Given the description of an element on the screen output the (x, y) to click on. 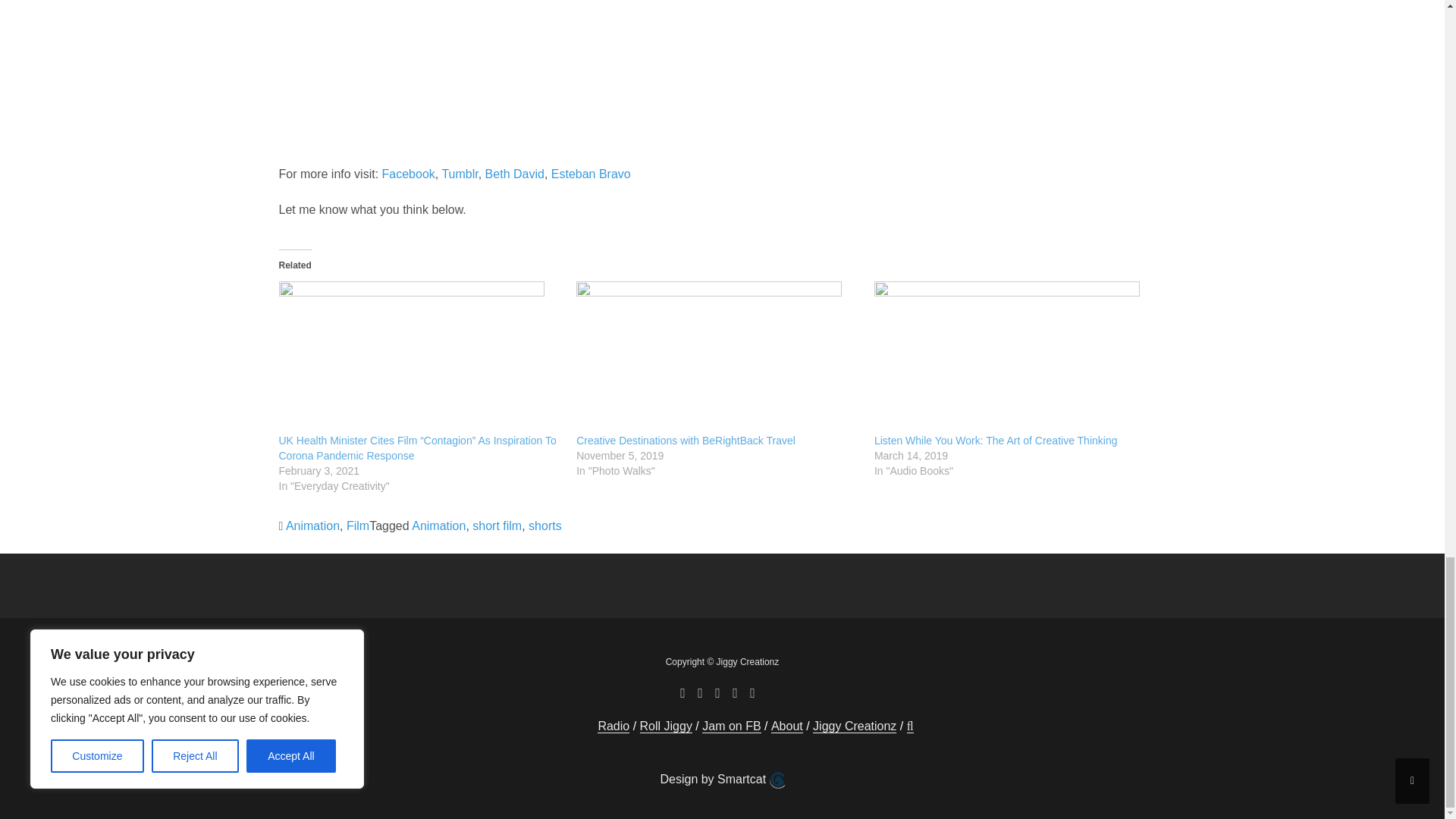
Facebook (408, 173)
Beth David (514, 173)
Tumblr (459, 173)
Creative Destinations with BeRightBack Travel (717, 357)
Listen While You Work: The Art of Creative Thinking (1016, 357)
Listen While You Work: The Art of Creative Thinking (996, 440)
Esteban Bravo (590, 173)
Creative Destinations with BeRightBack Travel (685, 440)
